Given the description of an element on the screen output the (x, y) to click on. 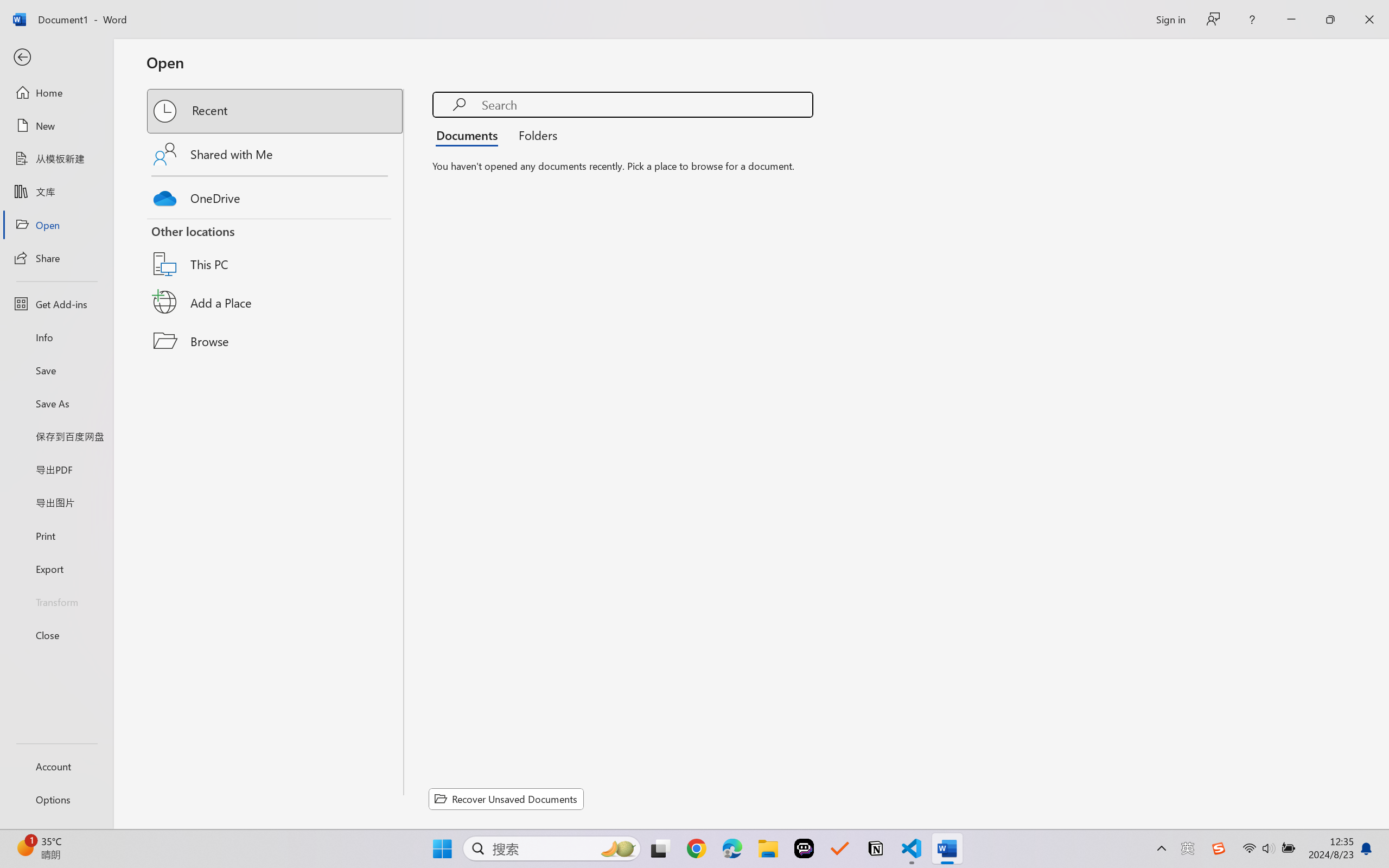
Export (56, 568)
Save As (56, 403)
Account (56, 765)
Get Add-ins (56, 303)
